Given the description of an element on the screen output the (x, y) to click on. 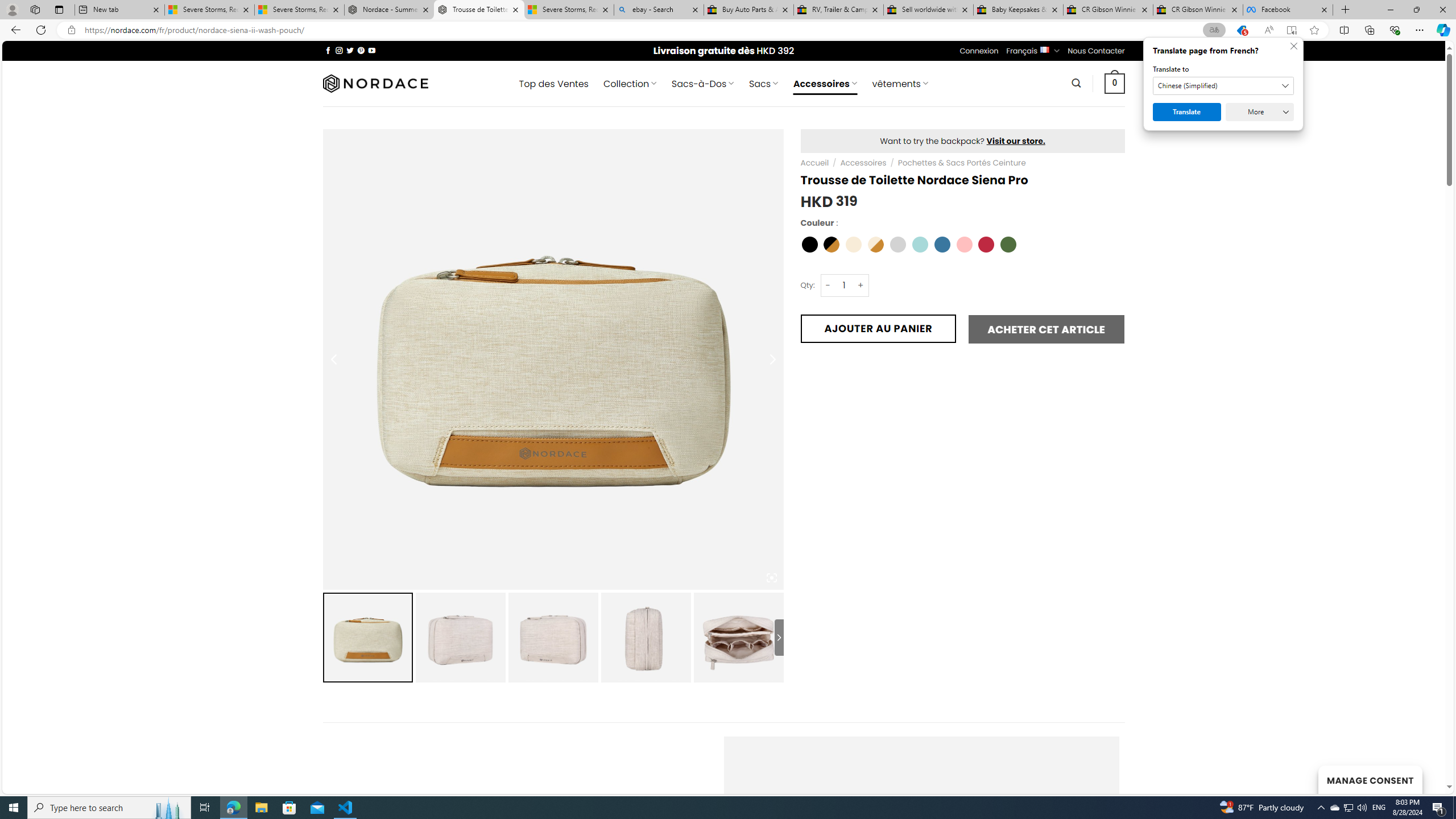
Nous Contacter (1096, 50)
Buy Auto Parts & Accessories | eBay (747, 9)
Enter Immersive Reader (F9) (1291, 29)
RV, Trailer & Camper Steps & Ladders for sale | eBay (838, 9)
MANAGE CONSENT (1369, 779)
Baby Keepsakes & Announcements for sale | eBay (1018, 9)
Accueil (814, 162)
Nous suivre sur Facebook (327, 49)
This site has coupons! Shopping in Microsoft Edge, 5 (1241, 29)
